Given the description of an element on the screen output the (x, y) to click on. 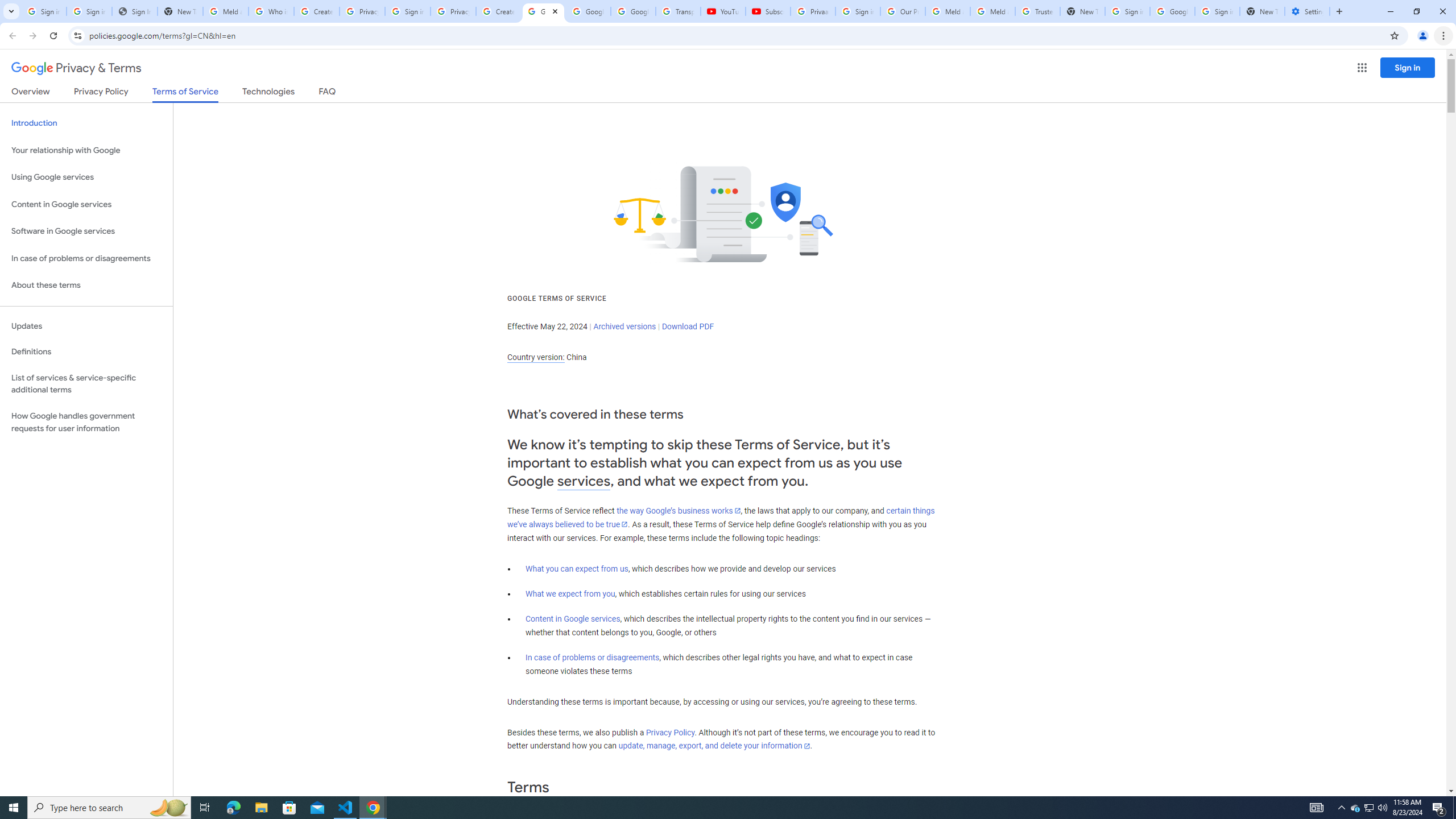
Software in Google services (86, 230)
Definitions (86, 352)
Download PDF (687, 326)
Create your Google Account (316, 11)
Sign in - Google Accounts (1216, 11)
Content in Google services (572, 618)
FAQ (327, 93)
Google Account (633, 11)
Terms of Service (184, 94)
YouTube (723, 11)
